Given the description of an element on the screen output the (x, y) to click on. 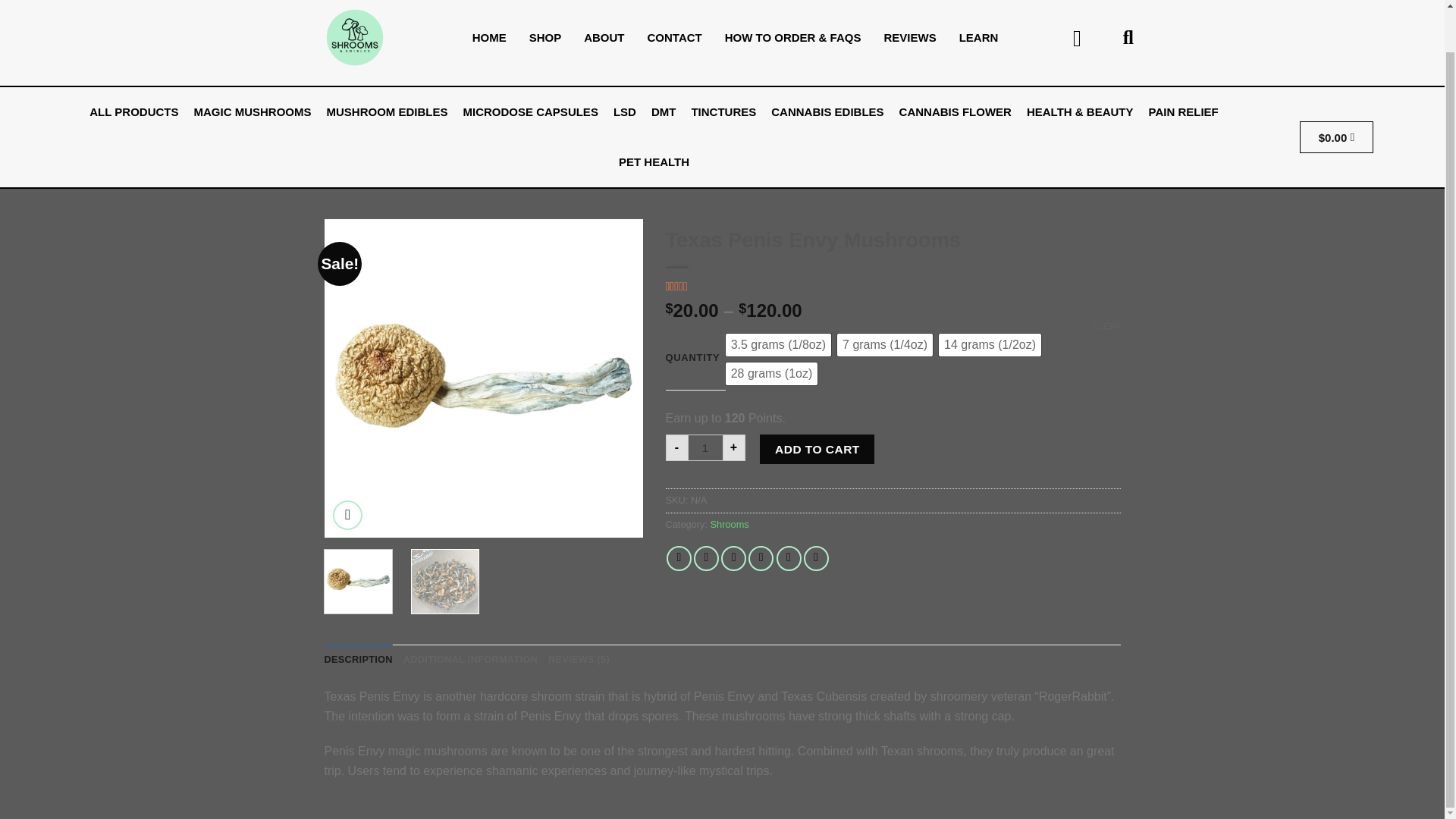
CANNABIS EDIBLES (826, 111)
CANNABIS FLOWER (955, 111)
PET HEALTH (654, 162)
Zoom (347, 514)
Texas Penis Envy mushrooms 4 (483, 378)
SHOP (545, 38)
Share on Twitter (706, 558)
Qty (705, 447)
TINCTURES (722, 111)
Texas Penis Envy mushrooms bag 4 (801, 378)
